Given the description of an element on the screen output the (x, y) to click on. 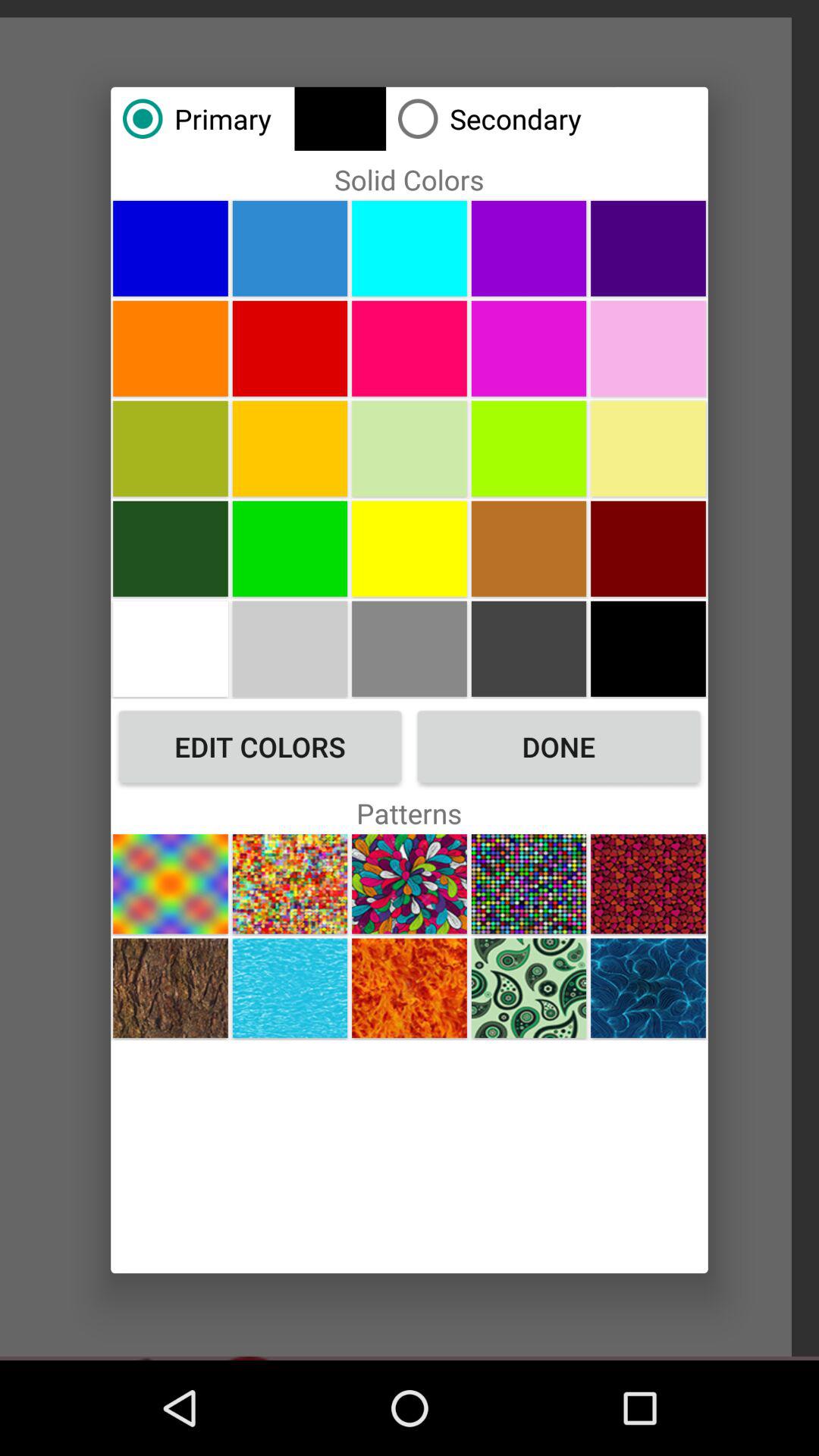
pick color (528, 648)
